Given the description of an element on the screen output the (x, y) to click on. 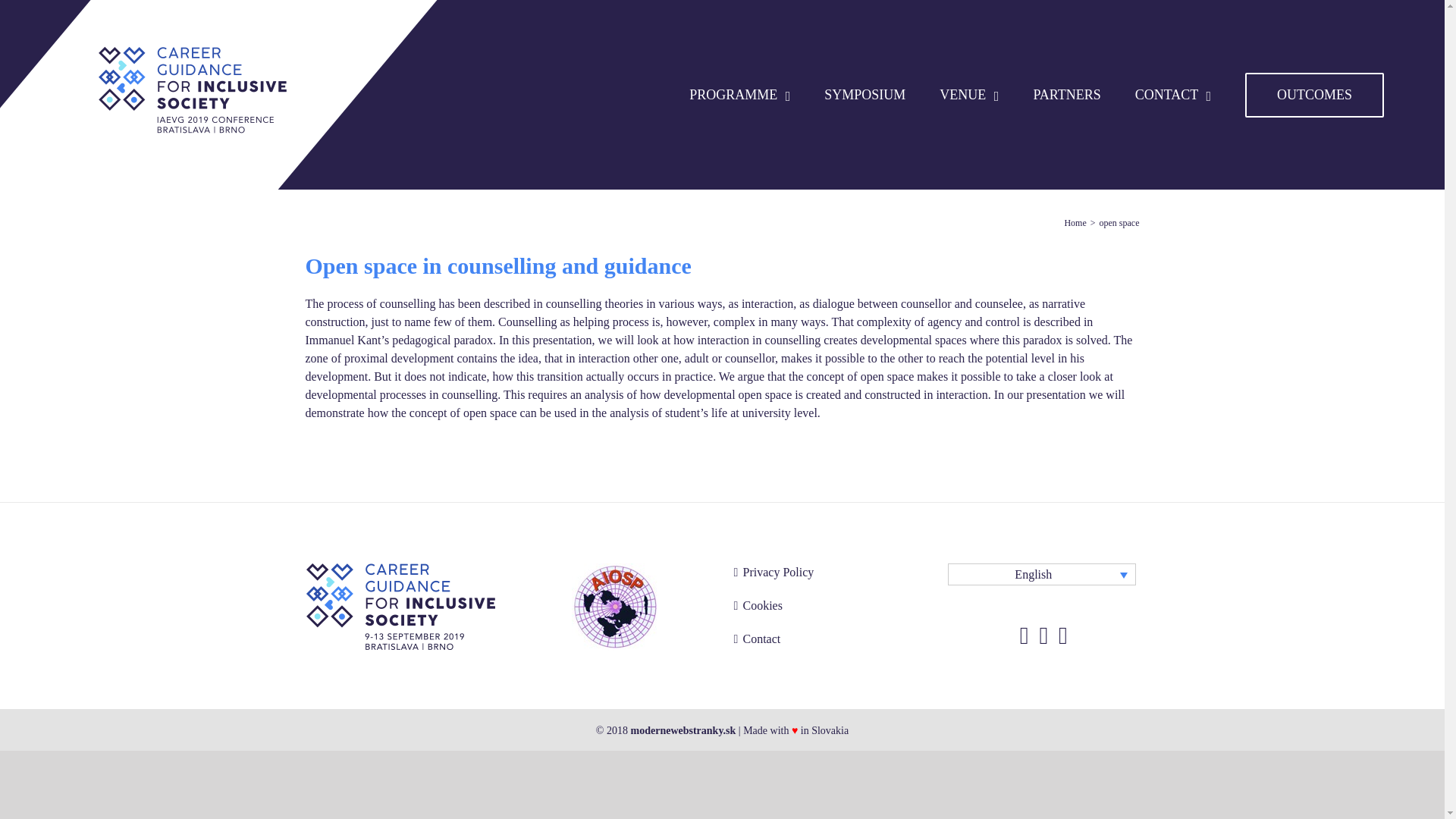
Cookies (830, 606)
Open space in counselling and guidance (497, 265)
modernewebstranky.sk (683, 730)
Home (1075, 222)
Contact (830, 638)
English (1041, 574)
Vyrobili modernewebstranky.sk (683, 730)
Privacy Policy (830, 572)
